Given the description of an element on the screen output the (x, y) to click on. 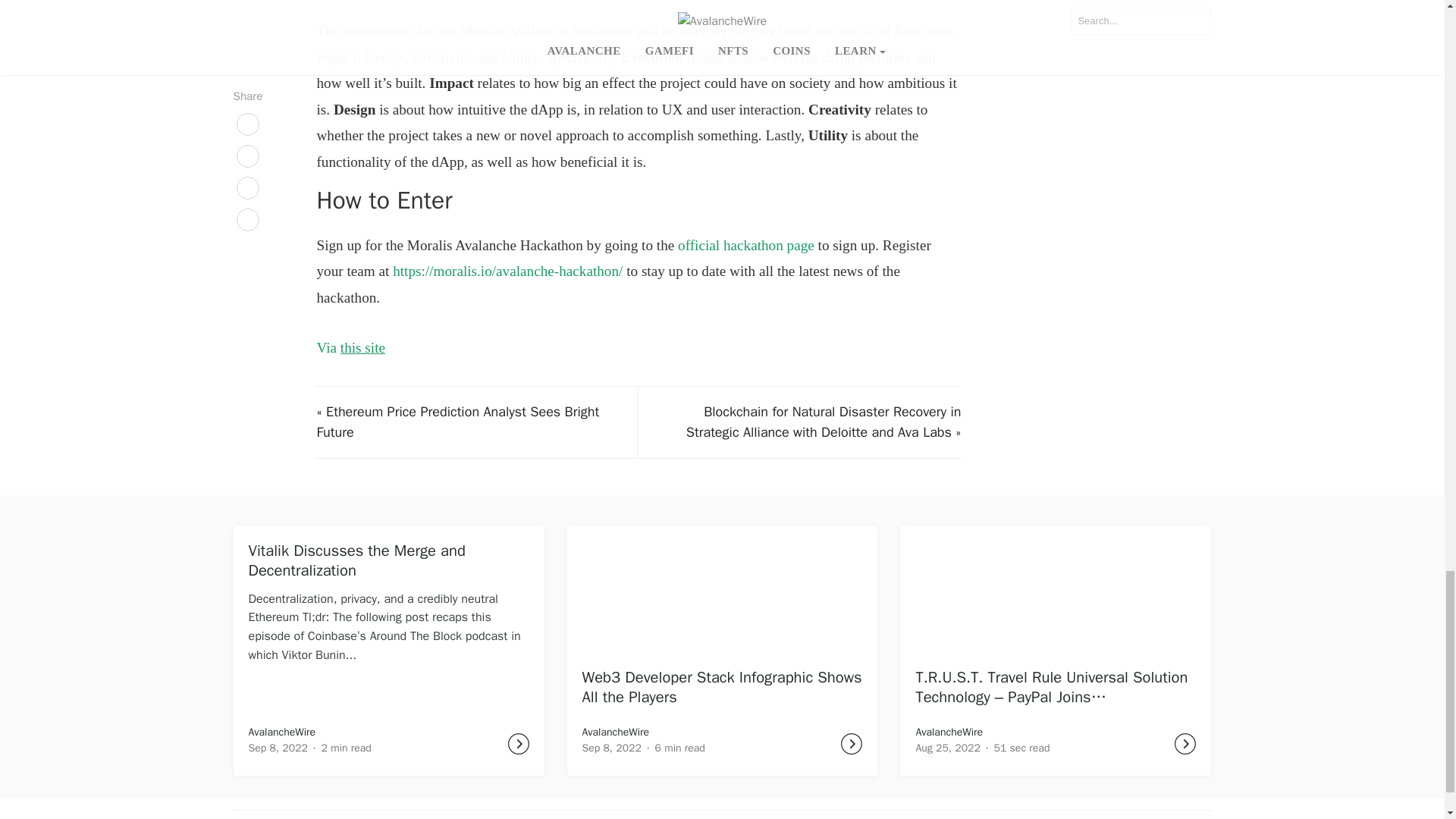
Vitalik Discusses the Merge and Decentralization (356, 559)
Web3 Developer Stack Infographic Shows All the Players (721, 686)
AvalancheWire (948, 731)
AvalancheWire (281, 731)
AvalancheWire (615, 731)
Ethereum Price Prediction Analyst Sees Bright Future (456, 421)
Via this site (350, 347)
official hackathon page (745, 244)
